Given the description of an element on the screen output the (x, y) to click on. 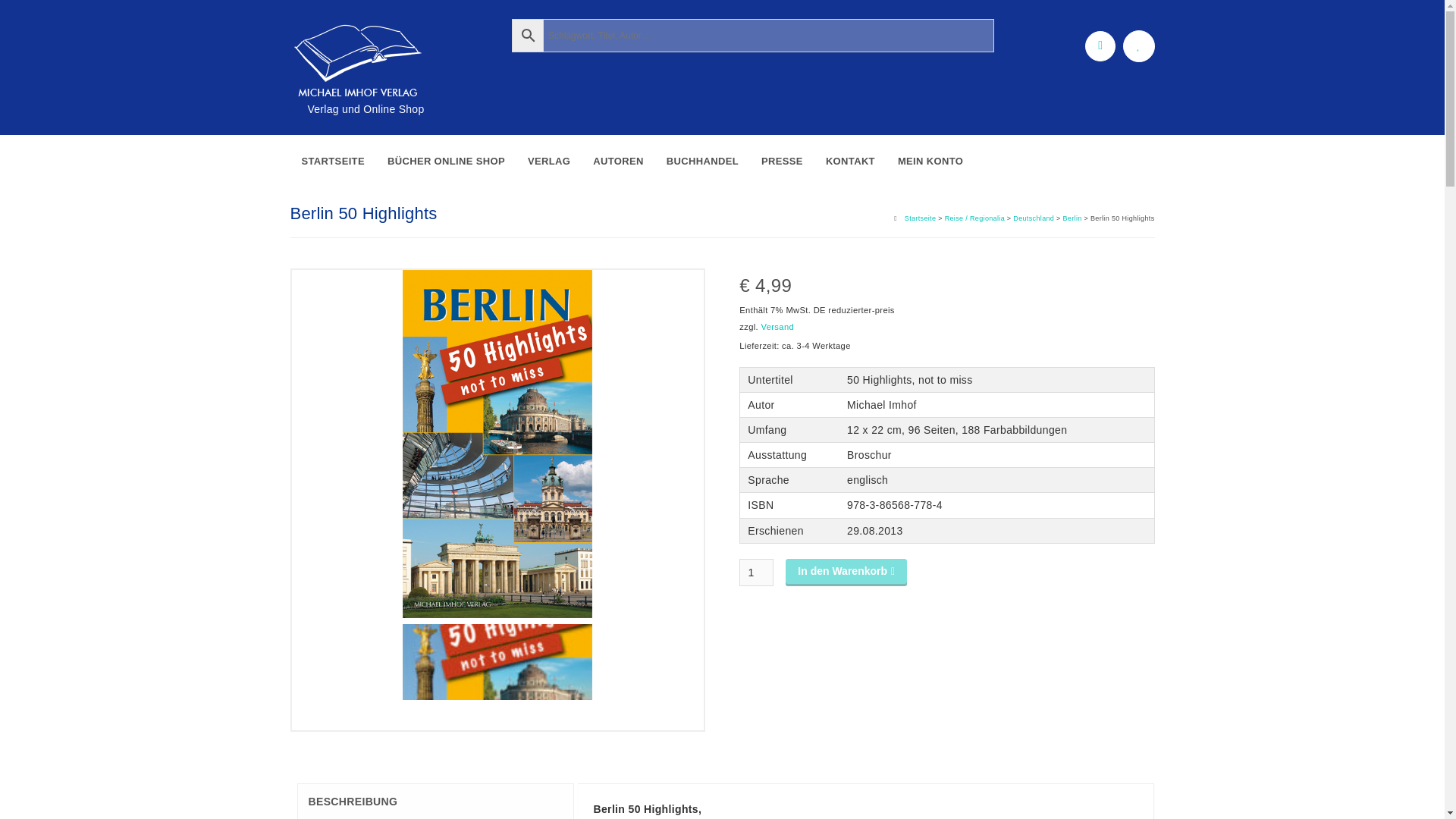
1 (756, 572)
View your shopping cart (1101, 45)
Share This (497, 719)
bookstore (356, 60)
